Given the description of an element on the screen output the (x, y) to click on. 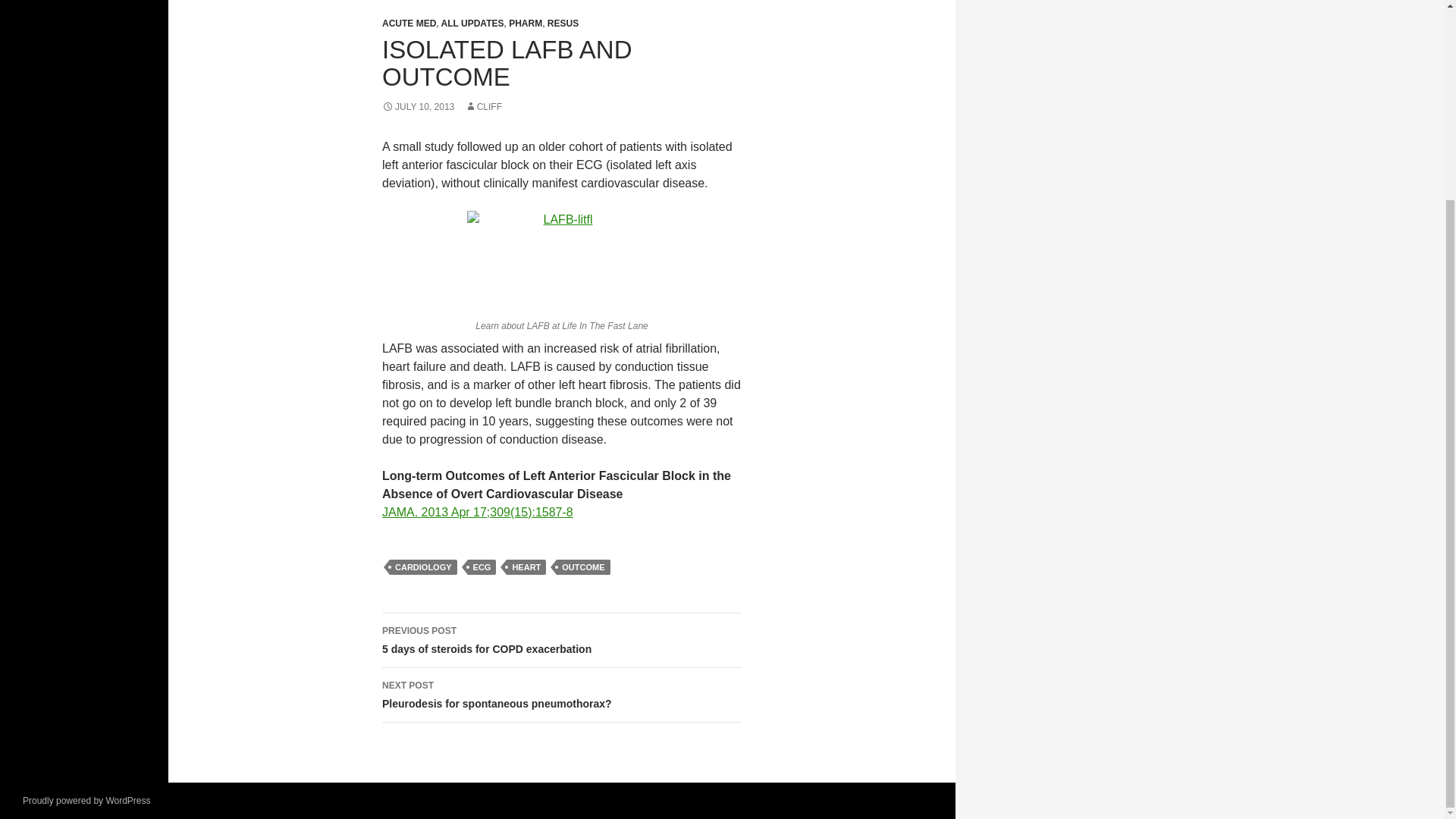
ECG (481, 566)
CLIFF (483, 106)
OUTCOME (561, 640)
HEART (583, 566)
ALL UPDATES (526, 566)
JULY 10, 2013 (472, 23)
CARDIOLOGY (417, 106)
Learn about LAFB at Life In The Fast Lane (423, 566)
ACUTE MED (561, 261)
PHARM (408, 23)
Proudly powered by WordPress (524, 23)
RESUS (561, 695)
